Given the description of an element on the screen output the (x, y) to click on. 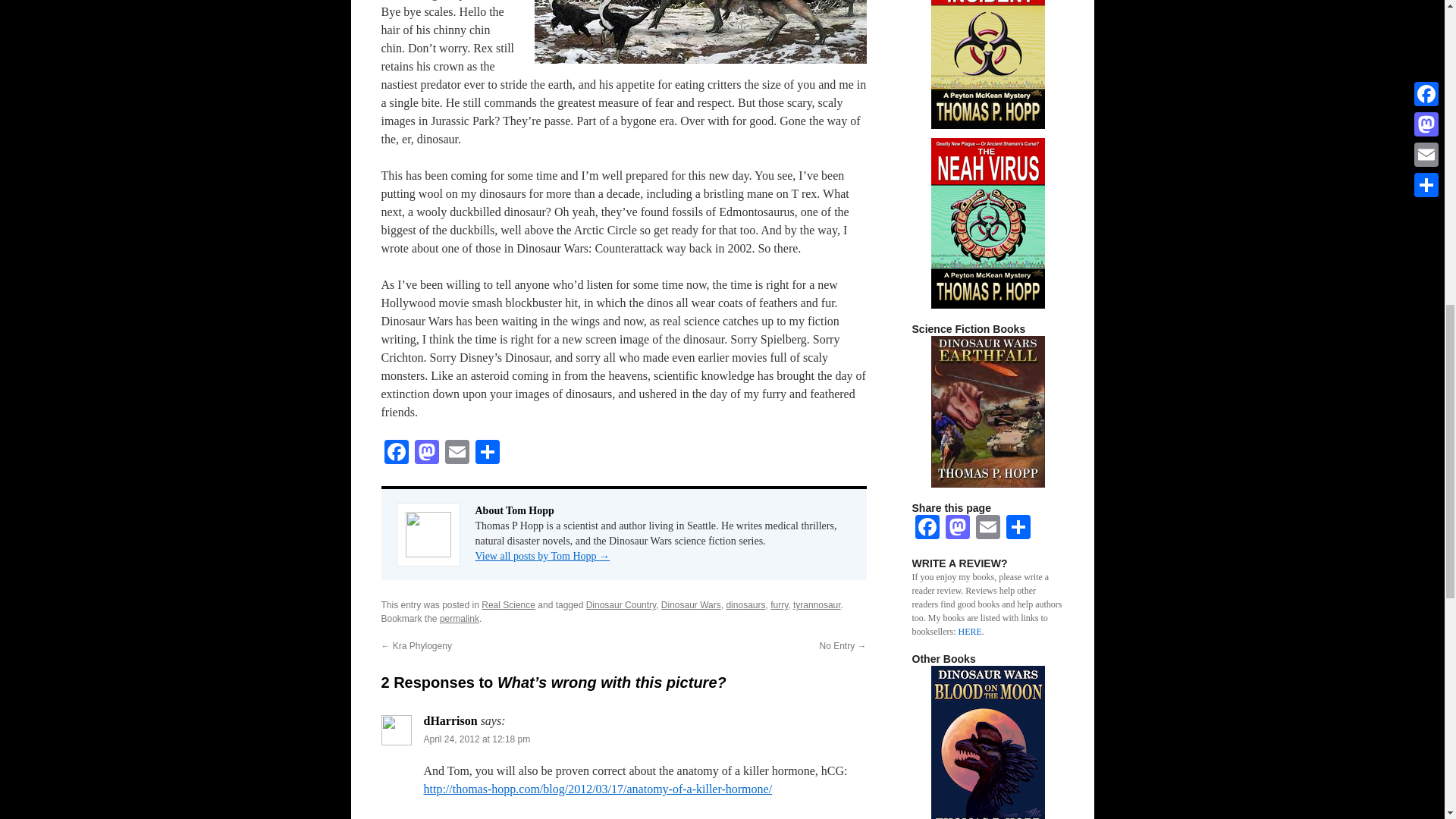
Mastodon (425, 453)
Share (486, 453)
Mastodon (957, 528)
Email (456, 453)
Mastodon (957, 528)
furry (778, 604)
Email (456, 453)
Real Science (508, 604)
HERE (969, 631)
permalink (459, 618)
Dinosaur Country (621, 604)
Dinosaur Wars (690, 604)
Mastodon (425, 453)
Facebook (395, 453)
dinosaurs (745, 604)
